Given the description of an element on the screen output the (x, y) to click on. 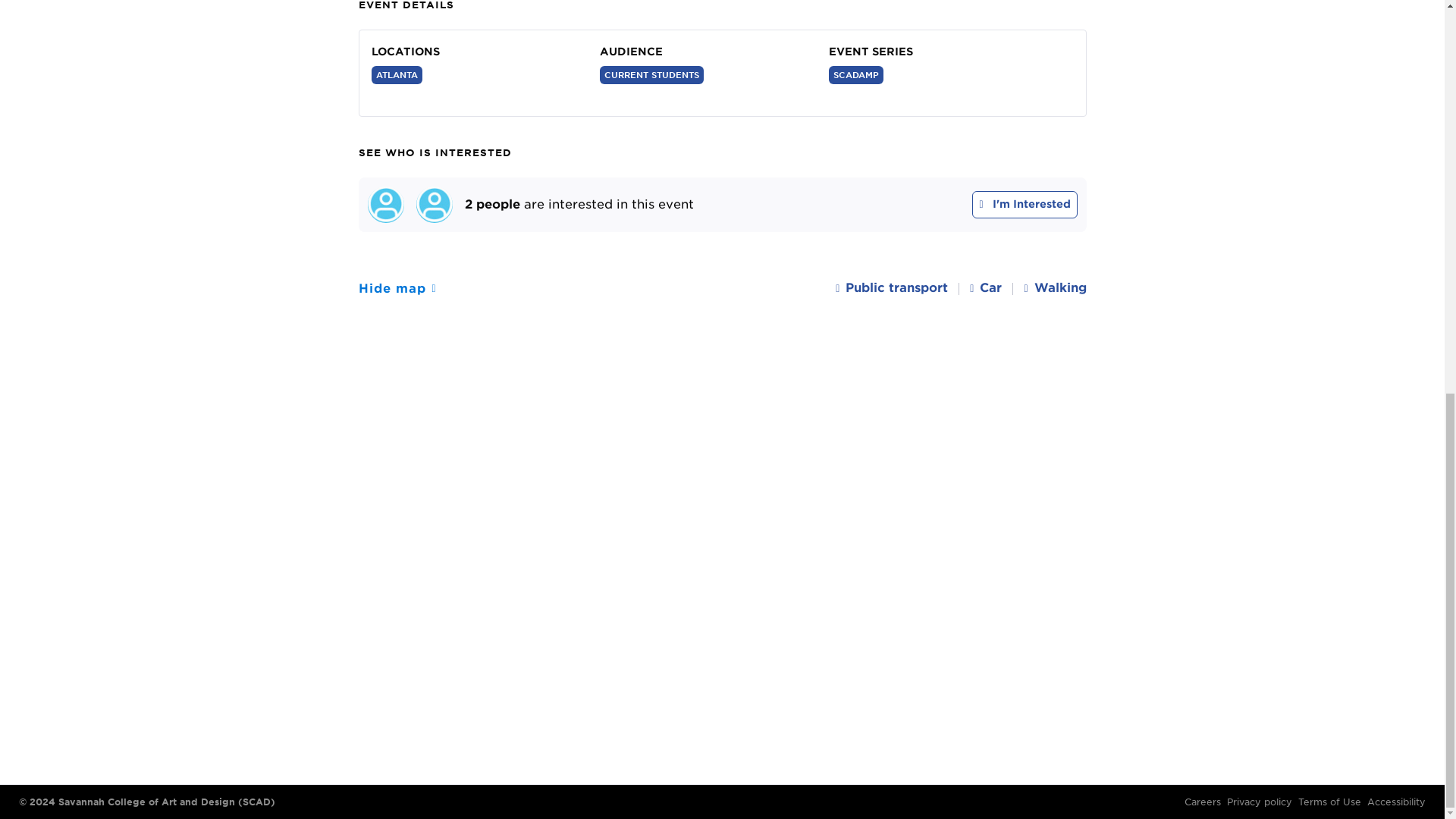
Mitchell Bianconi (432, 204)
ATLANTA (396, 75)
Public transport (891, 288)
Val Vidali (384, 204)
SCADAMP (855, 75)
Car (985, 288)
I'm Interested (1024, 204)
CURRENT STUDENTS (651, 75)
